Given the description of an element on the screen output the (x, y) to click on. 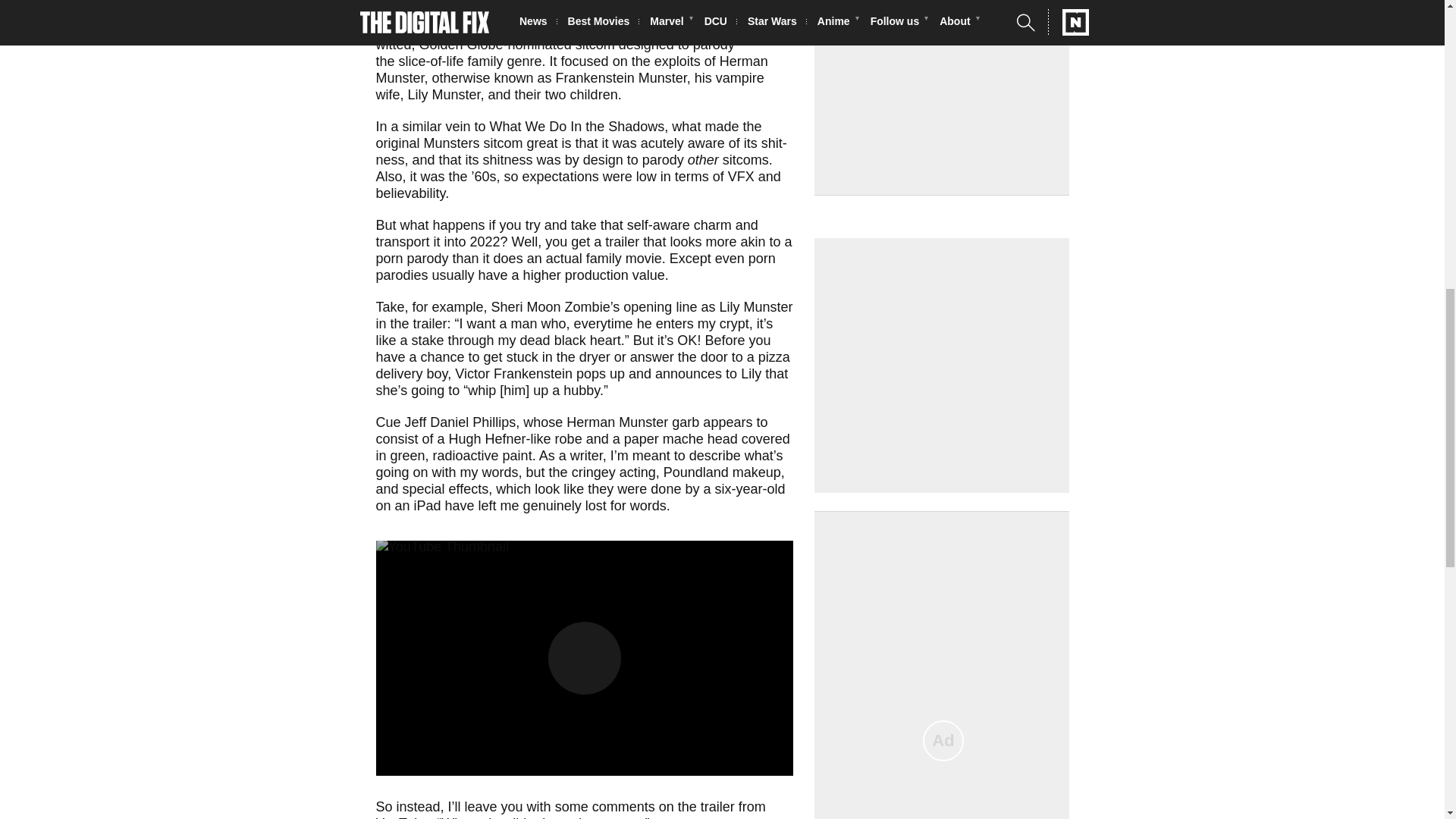
comedy movie (456, 11)
family movie (624, 258)
TV series (739, 11)
What We Do In the Shadows (577, 126)
